Given the description of an element on the screen output the (x, y) to click on. 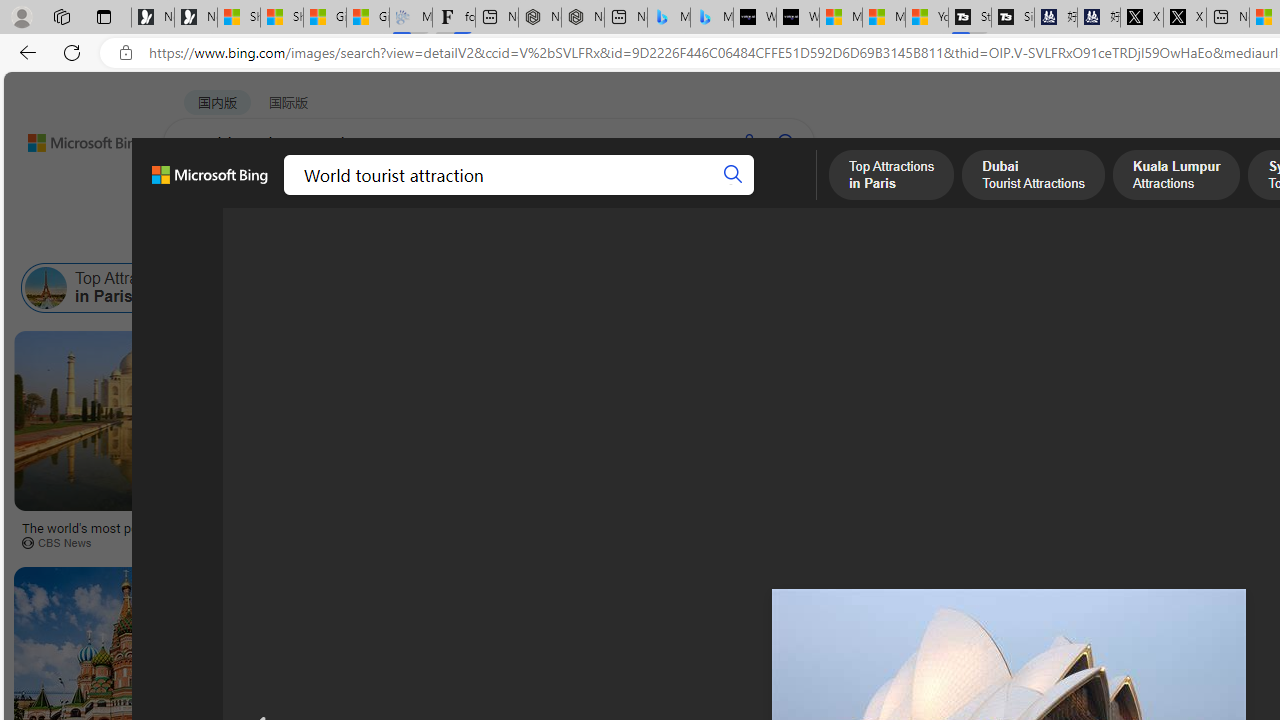
License (664, 237)
journeyz.co (551, 541)
Date (591, 237)
What's the best AI voice generator? - voice.ai (798, 17)
Layout (443, 237)
Streaming Coverage | T3 (969, 17)
